Given the description of an element on the screen output the (x, y) to click on. 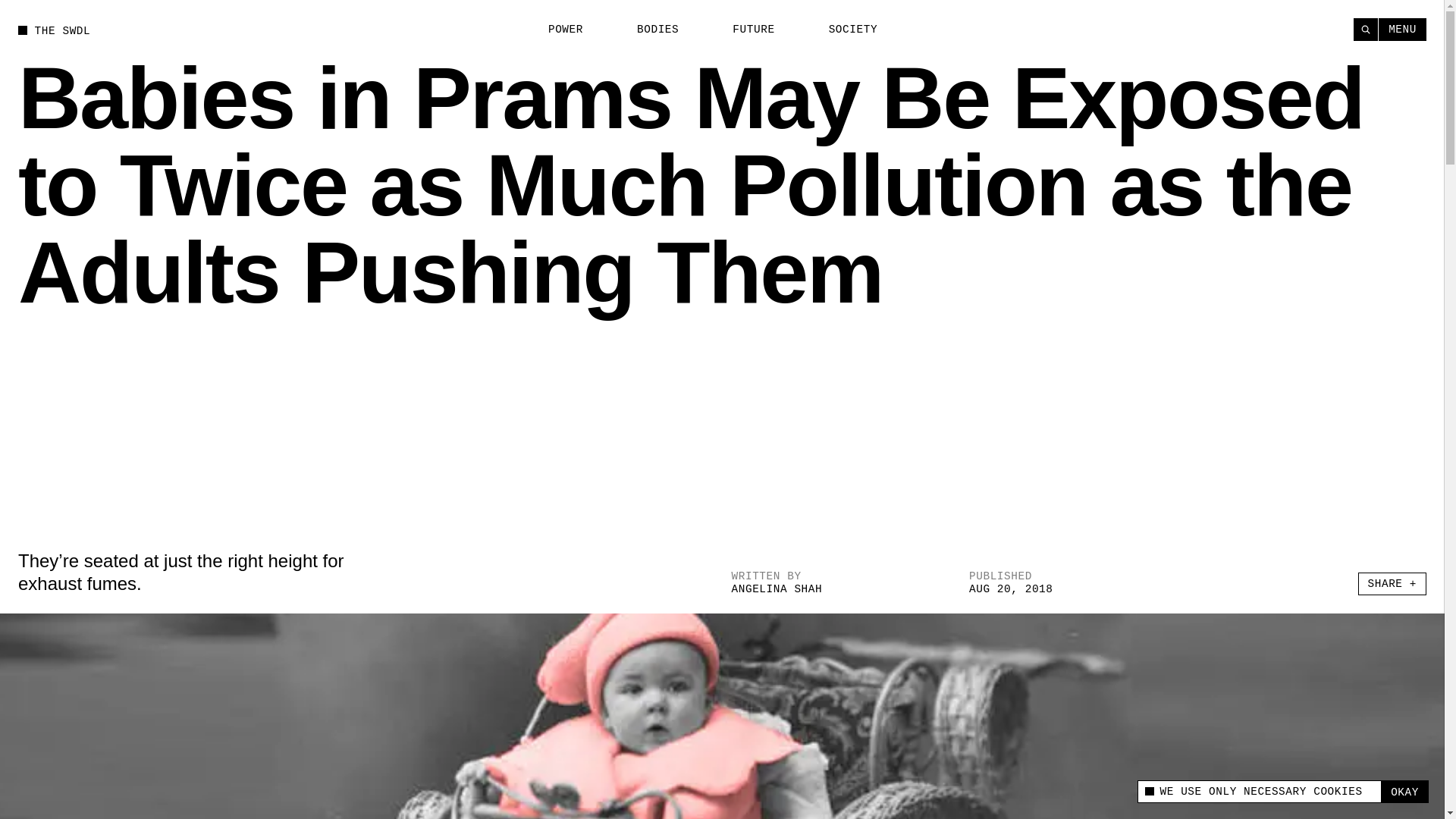
OKAY (1404, 791)
ANGELINA SHAH (776, 589)
THE SWDL (53, 29)
WE USE ONLY NECESSARY COOKIES (1259, 791)
BODIES (649, 29)
POWER (557, 29)
FUTURE (744, 29)
MENU (1402, 29)
SOCIETY (843, 29)
